Given the description of an element on the screen output the (x, y) to click on. 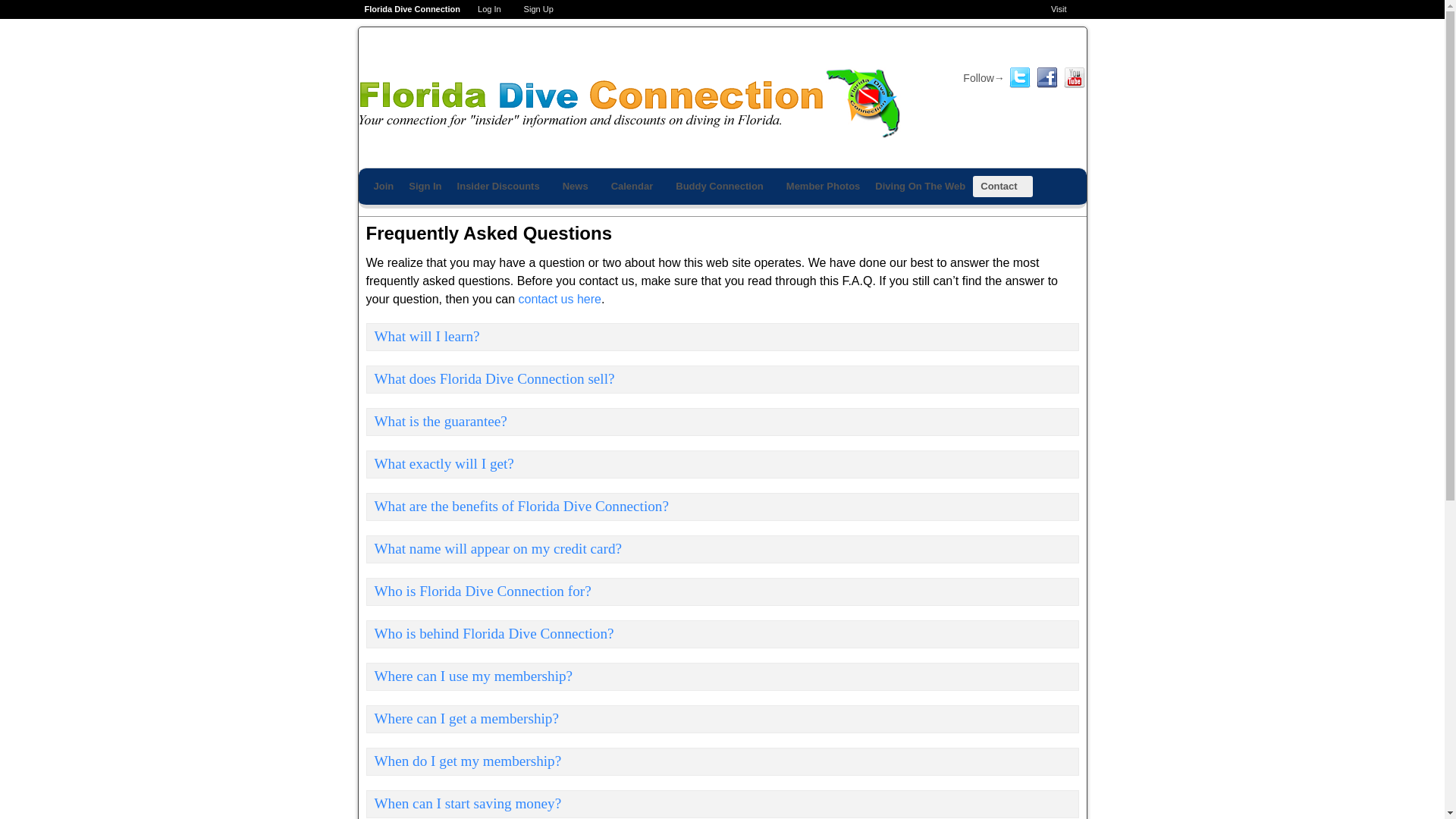
What will I learn? (722, 336)
What is the guarantee? (722, 421)
contact us here (559, 298)
Join (383, 186)
Follow us on Twitter (1019, 77)
Connect on Facebook (1047, 77)
What does Florida Dive Connection sell? (722, 379)
Join Florida Dive Connection (383, 186)
The Latest Scuba Diving News (579, 186)
Watch on YouTube (1073, 77)
Members can find their discounts here (501, 186)
Sign In (424, 186)
Sign In To Your Account (424, 186)
Member Photos (822, 186)
Diving On The Web (919, 186)
